Given the description of an element on the screen output the (x, y) to click on. 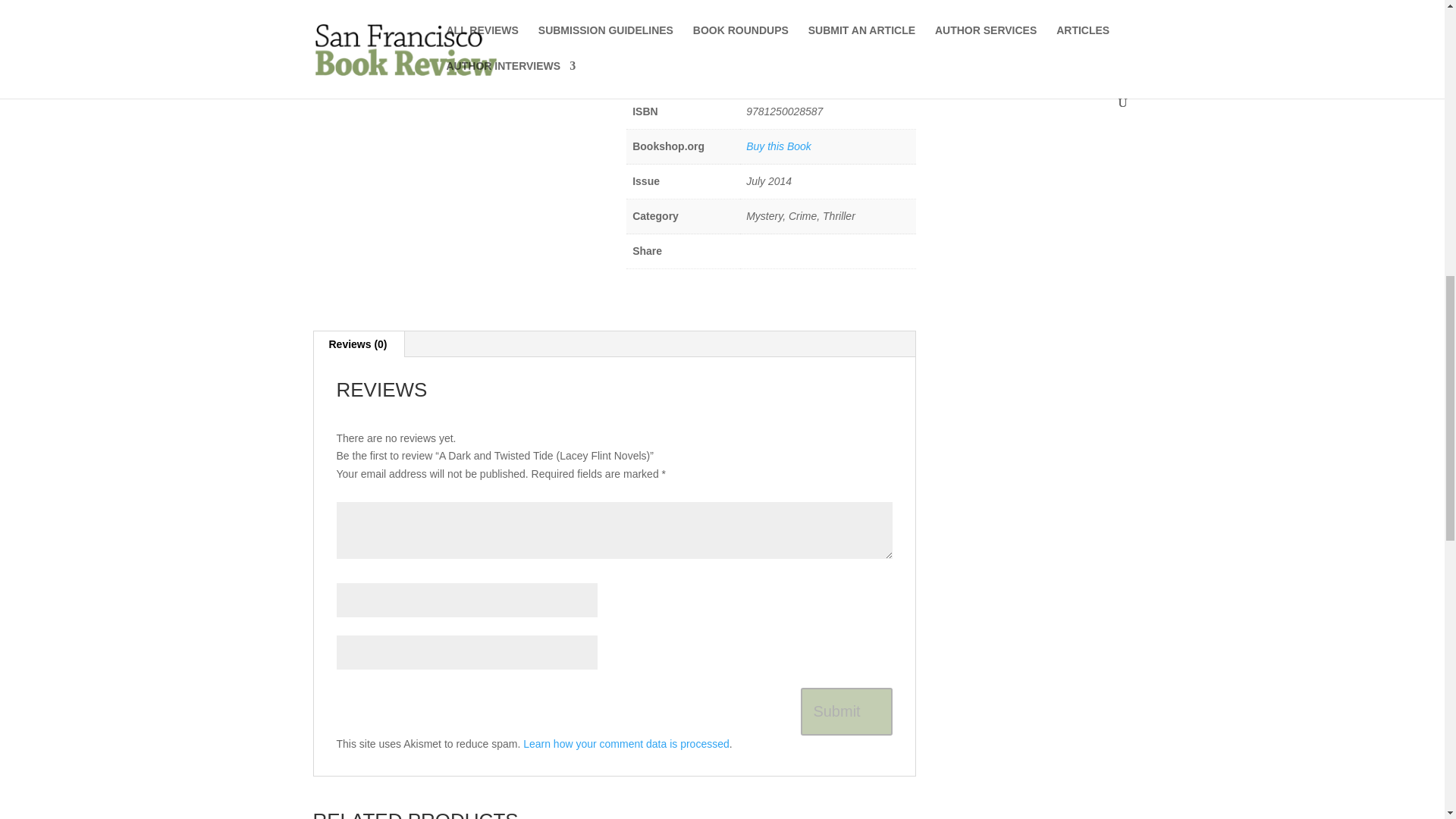
Submit (845, 711)
Buy this Book (777, 146)
Submit (845, 711)
Learn how your comment data is processed (625, 743)
